Given the description of an element on the screen output the (x, y) to click on. 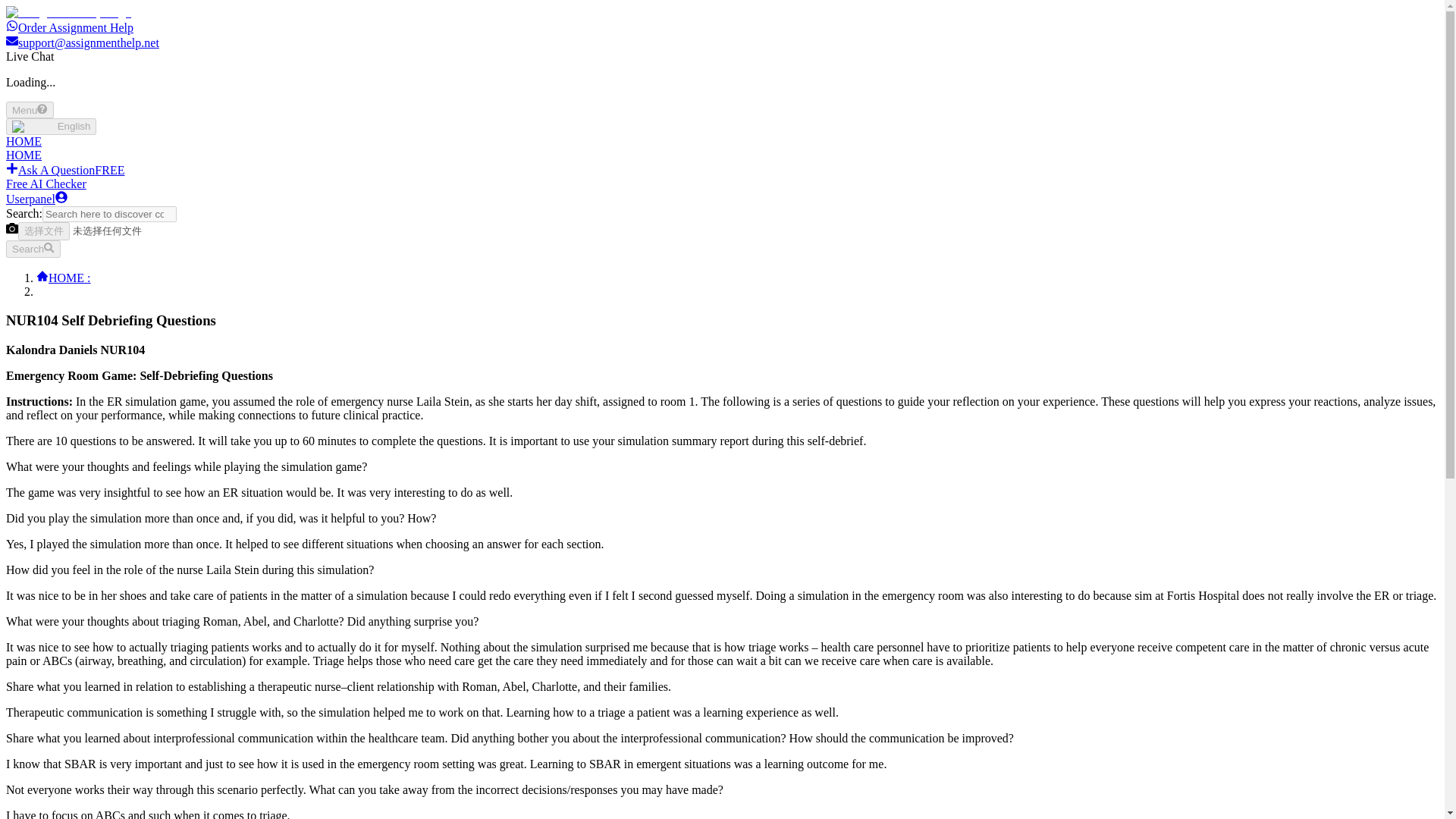
Free AI Checker (45, 183)
Menu (29, 109)
English (50, 126)
Ask A QuestionFREE (64, 169)
Order Assignment Help (69, 27)
Search by Image (11, 227)
HOME : (63, 277)
HOME (23, 141)
HOME (23, 154)
Search (33, 248)
Userpanel (35, 198)
